Given the description of an element on the screen output the (x, y) to click on. 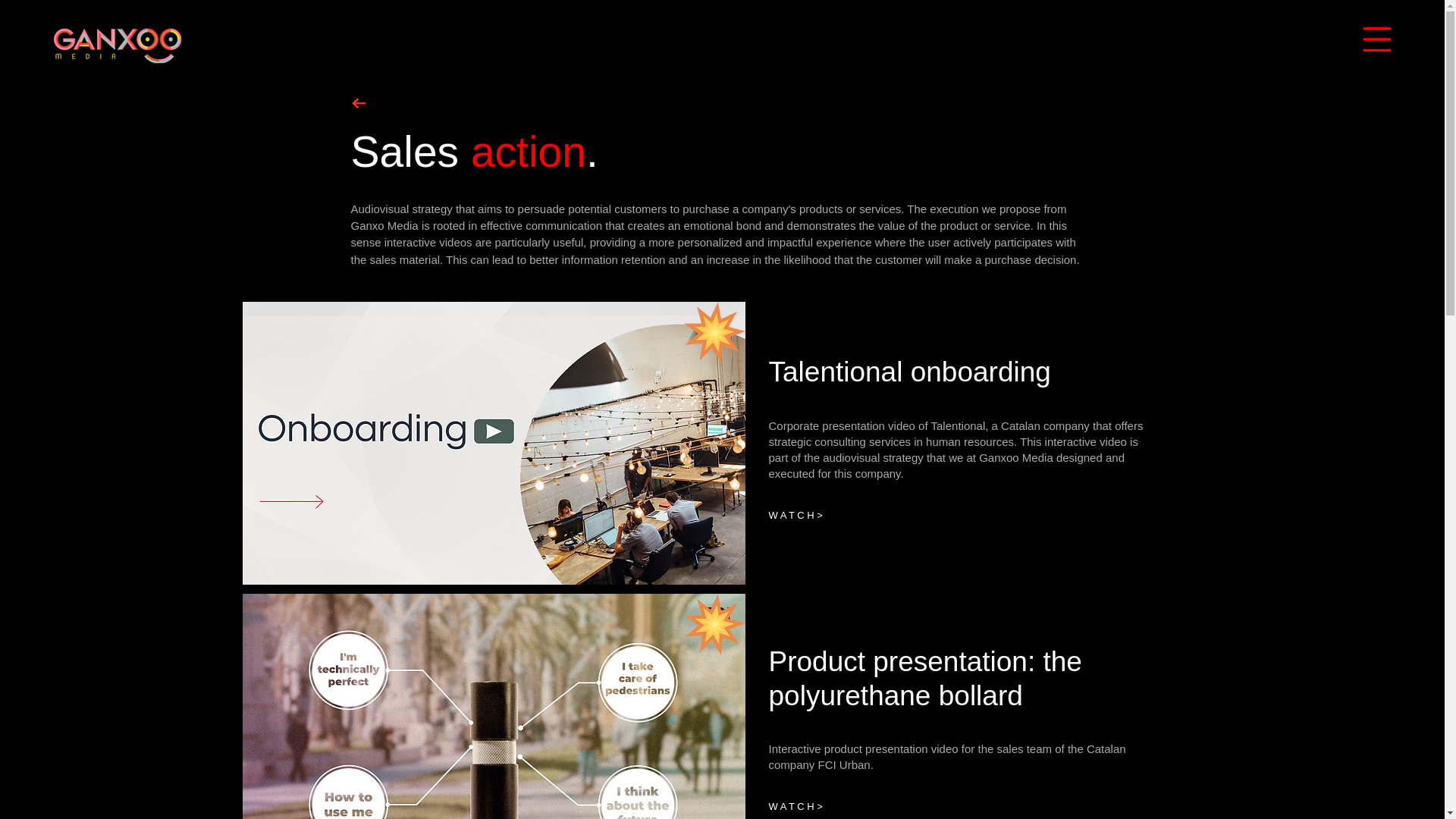
Talentional onboarding (909, 371)
Product presentation: the polyurethane bollard (924, 678)
